Given the description of an element on the screen output the (x, y) to click on. 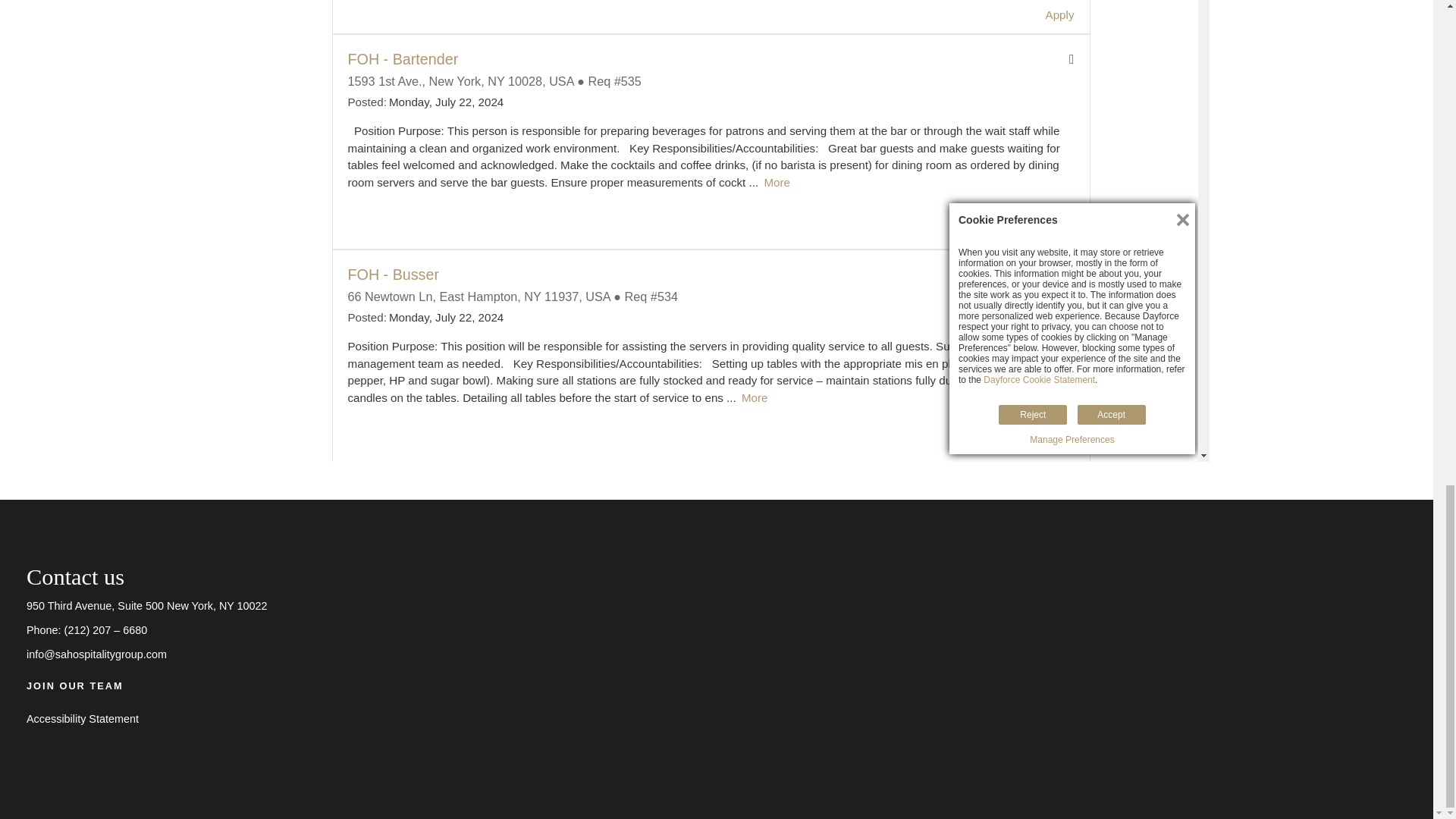
JOIN OUR TEAM (74, 685)
Accessibility Statement (82, 719)
